Given the description of an element on the screen output the (x, y) to click on. 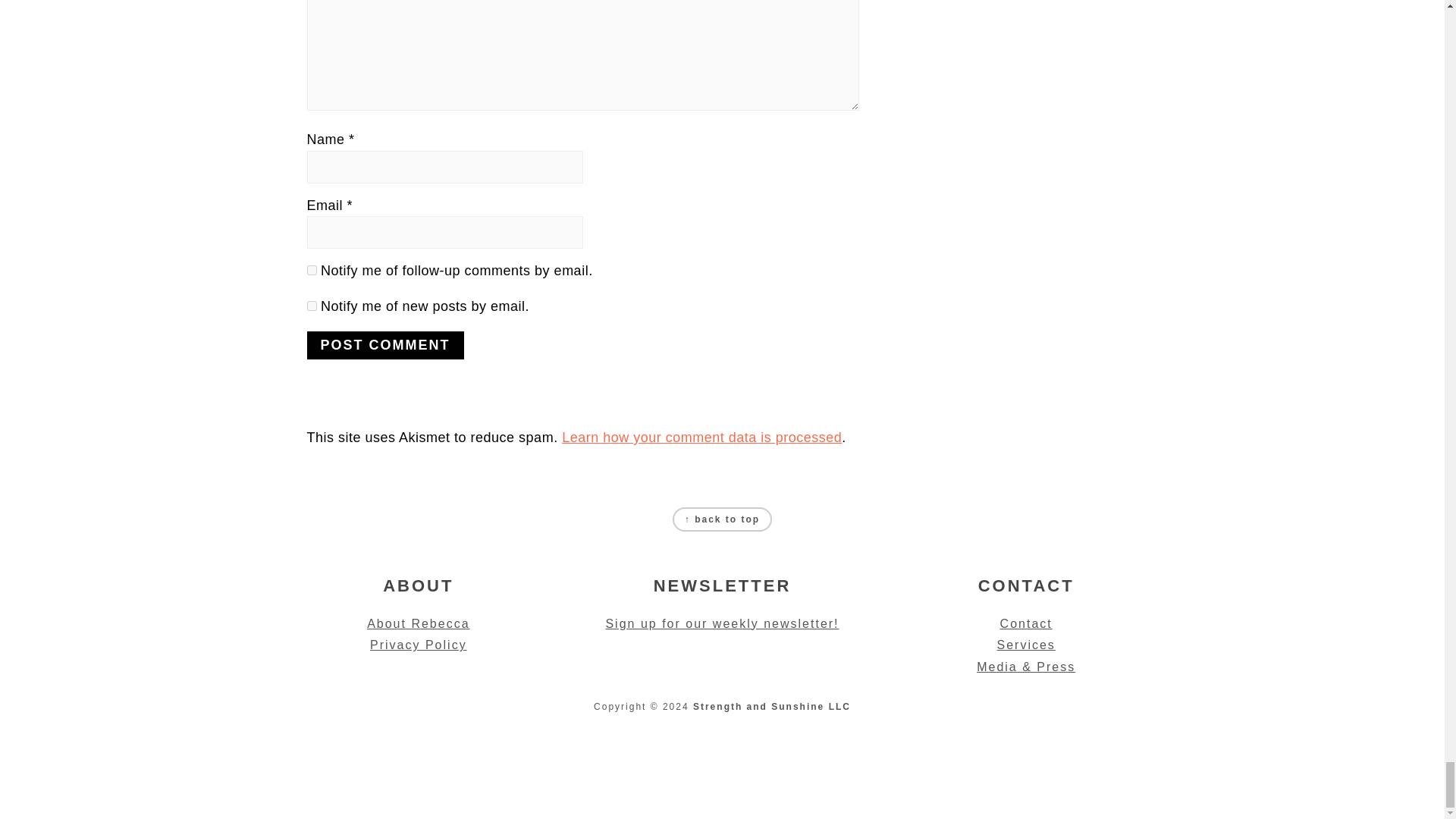
Post Comment (384, 345)
subscribe (310, 270)
subscribe (310, 306)
